Given the description of an element on the screen output the (x, y) to click on. 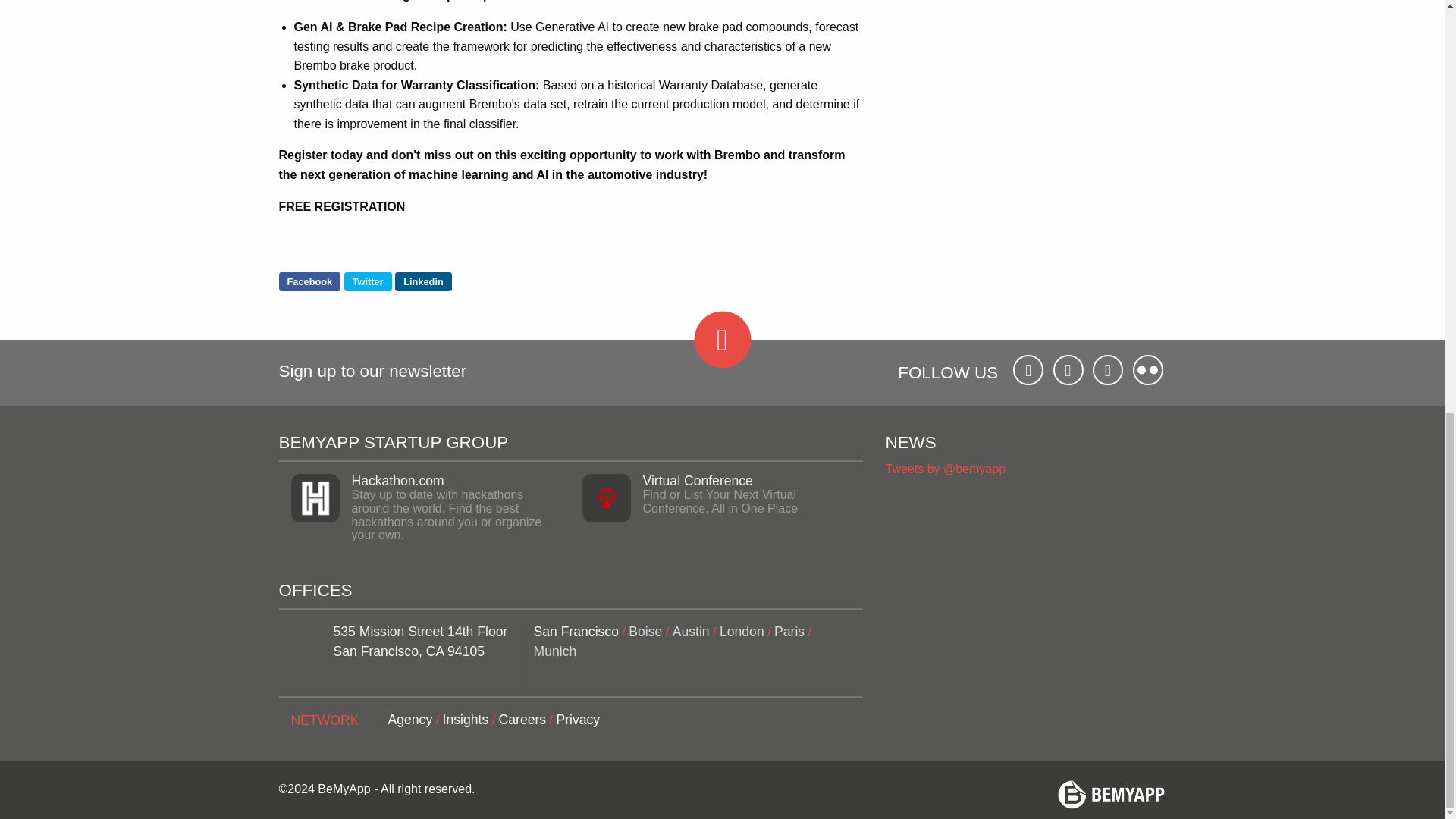
Careers (523, 719)
Privacy (577, 719)
Facebook (309, 281)
Boise (645, 631)
Sign up to our newsletter (373, 372)
Munich (555, 651)
Twitter (367, 281)
Paris (789, 631)
London (741, 631)
Virtual Conference (697, 480)
Agency (410, 719)
Linkedin (422, 281)
Hackathon.com (398, 480)
San Francisco (576, 631)
Austin (691, 631)
